Given the description of an element on the screen output the (x, y) to click on. 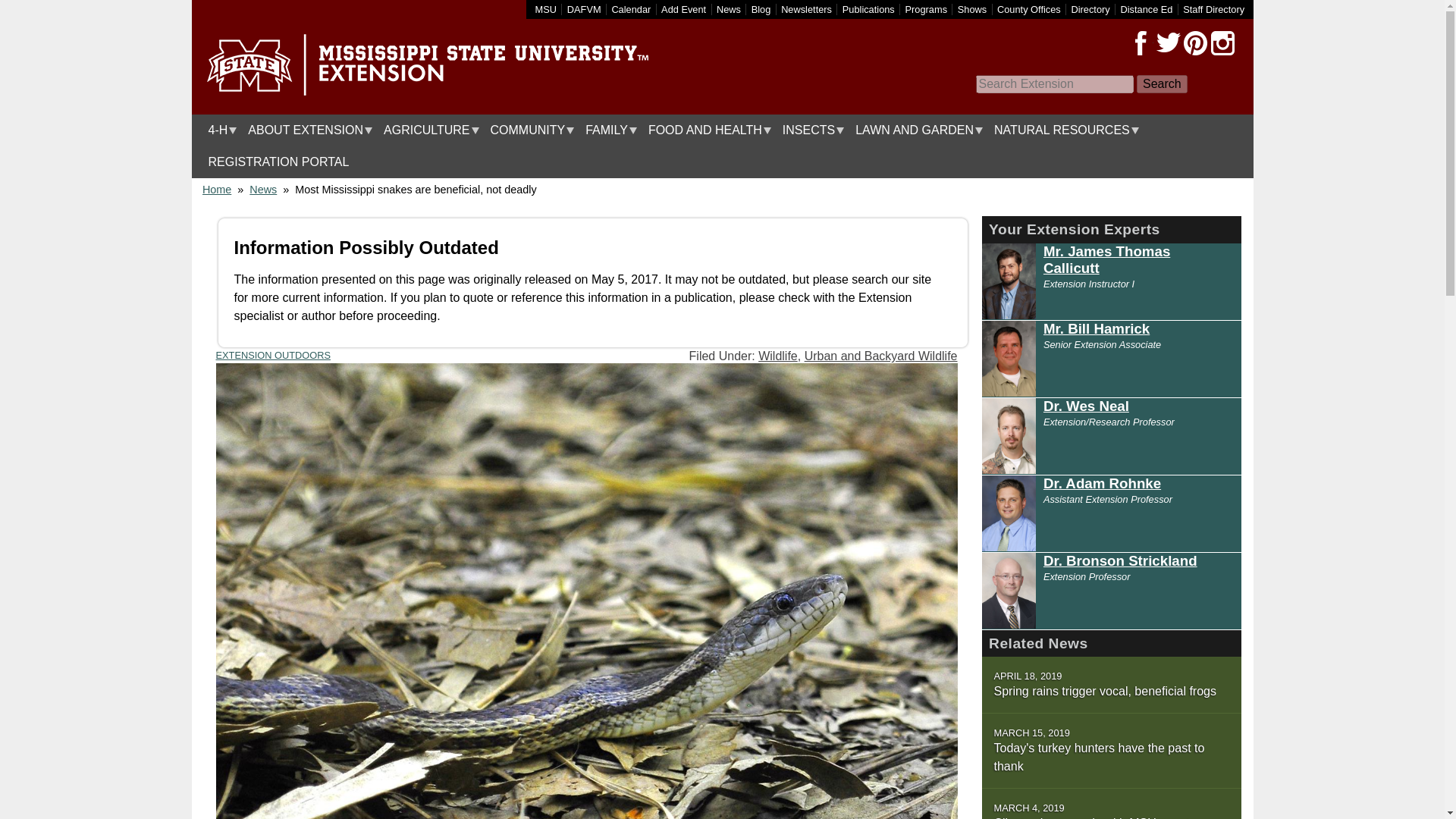
Staff Directory (1213, 9)
Directory of employees of the MSU Extension Service (1213, 9)
Blog (761, 9)
DAFVM (584, 9)
List of Extension Programs (926, 9)
Directory (1089, 9)
County Offices (1029, 9)
Twitter (1167, 43)
News (728, 9)
Shows (972, 9)
Distance Ed (1145, 9)
Pinterest (1194, 43)
Search (1162, 84)
Publications (869, 9)
